Given the description of an element on the screen output the (x, y) to click on. 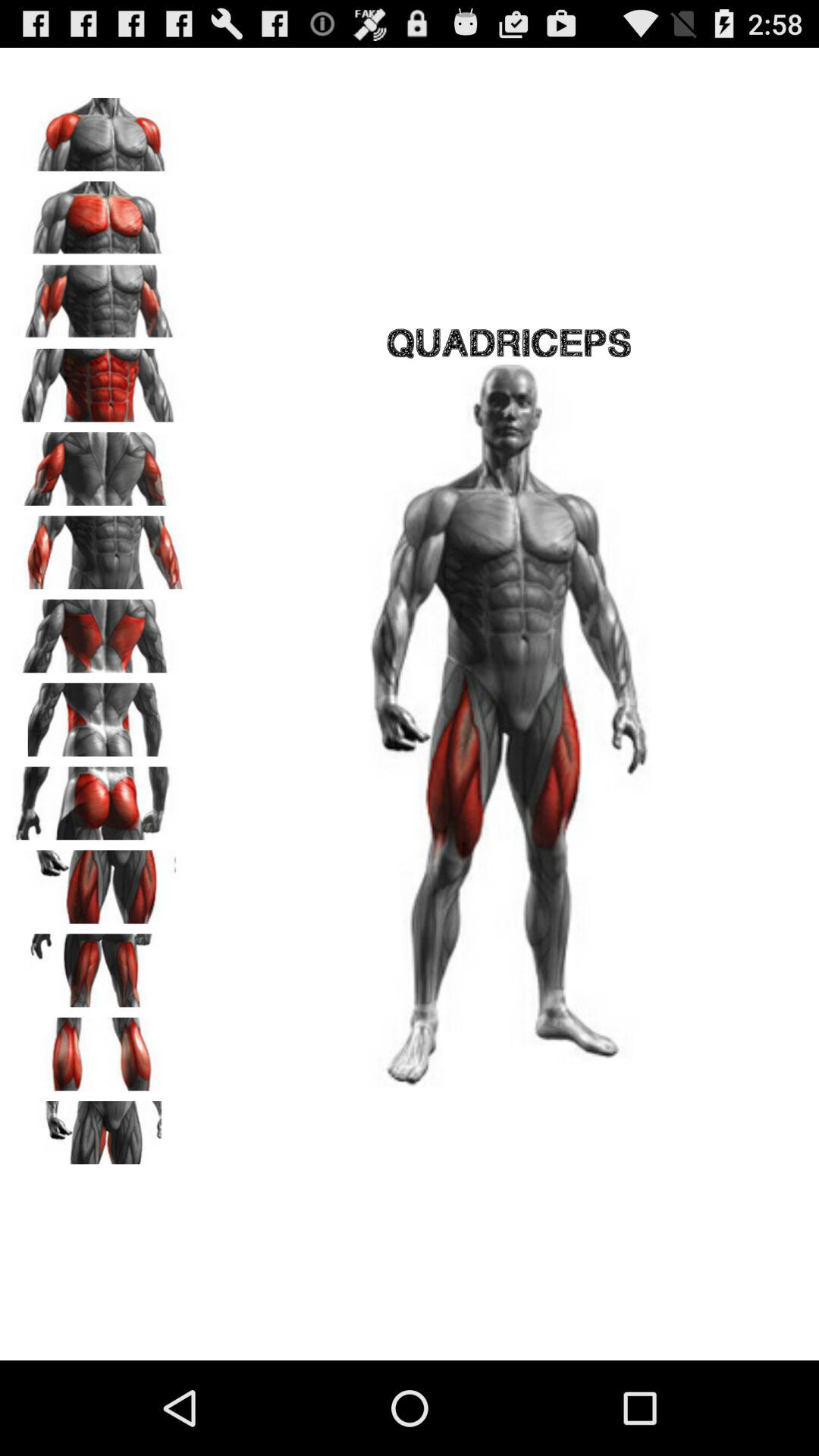
select shoulders (99, 129)
